Given the description of an element on the screen output the (x, y) to click on. 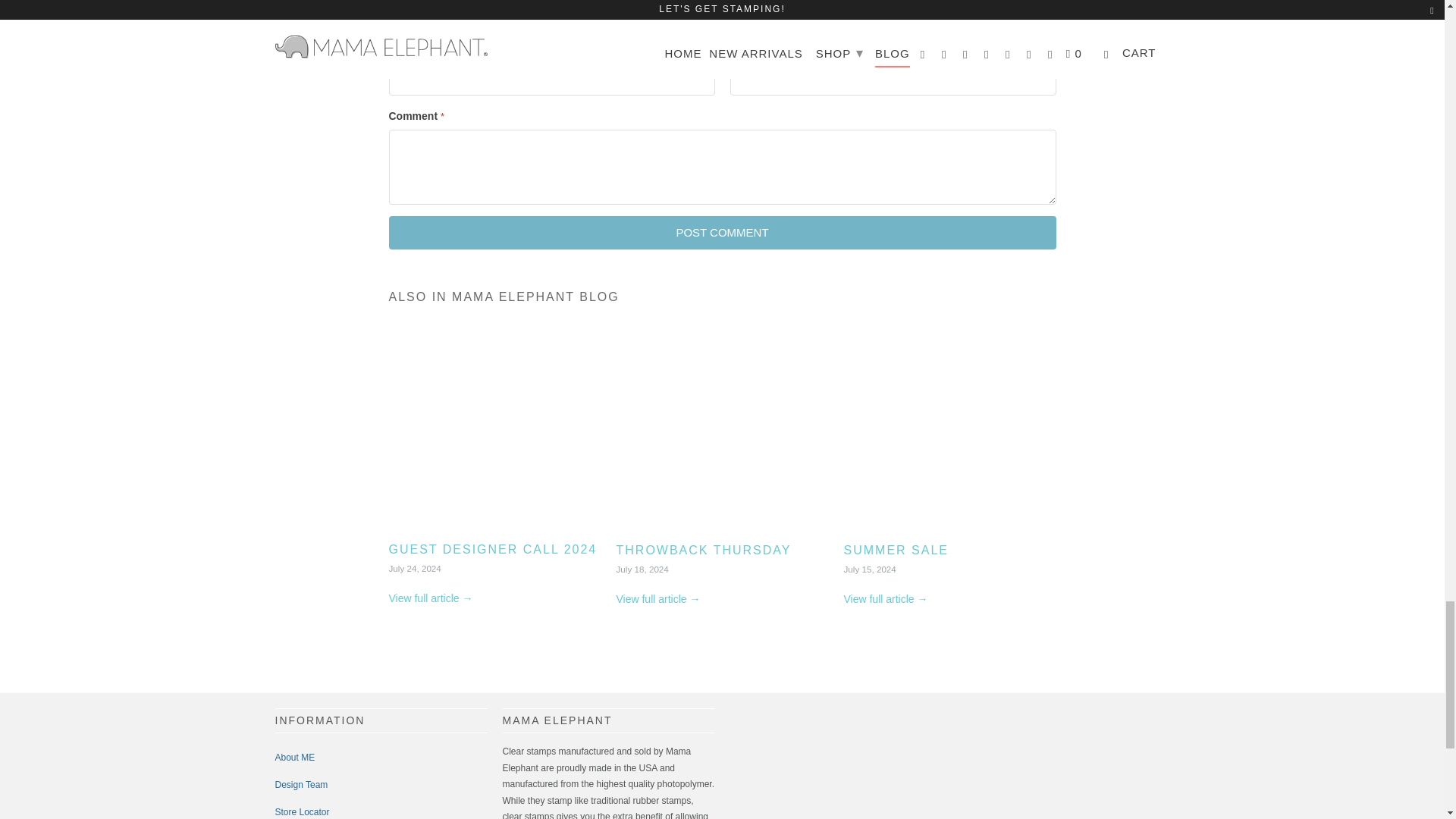
Throwback Thursday (657, 598)
Throwback Thursday (721, 431)
Post comment (721, 232)
Guest Designer Call 2024 (493, 430)
SUMMER SALE (949, 431)
SUMMER SALE (895, 549)
Guest Designer Call 2024 (492, 549)
Guest Designer Call 2024 (429, 598)
Throwback Thursday (702, 549)
